Given the description of an element on the screen output the (x, y) to click on. 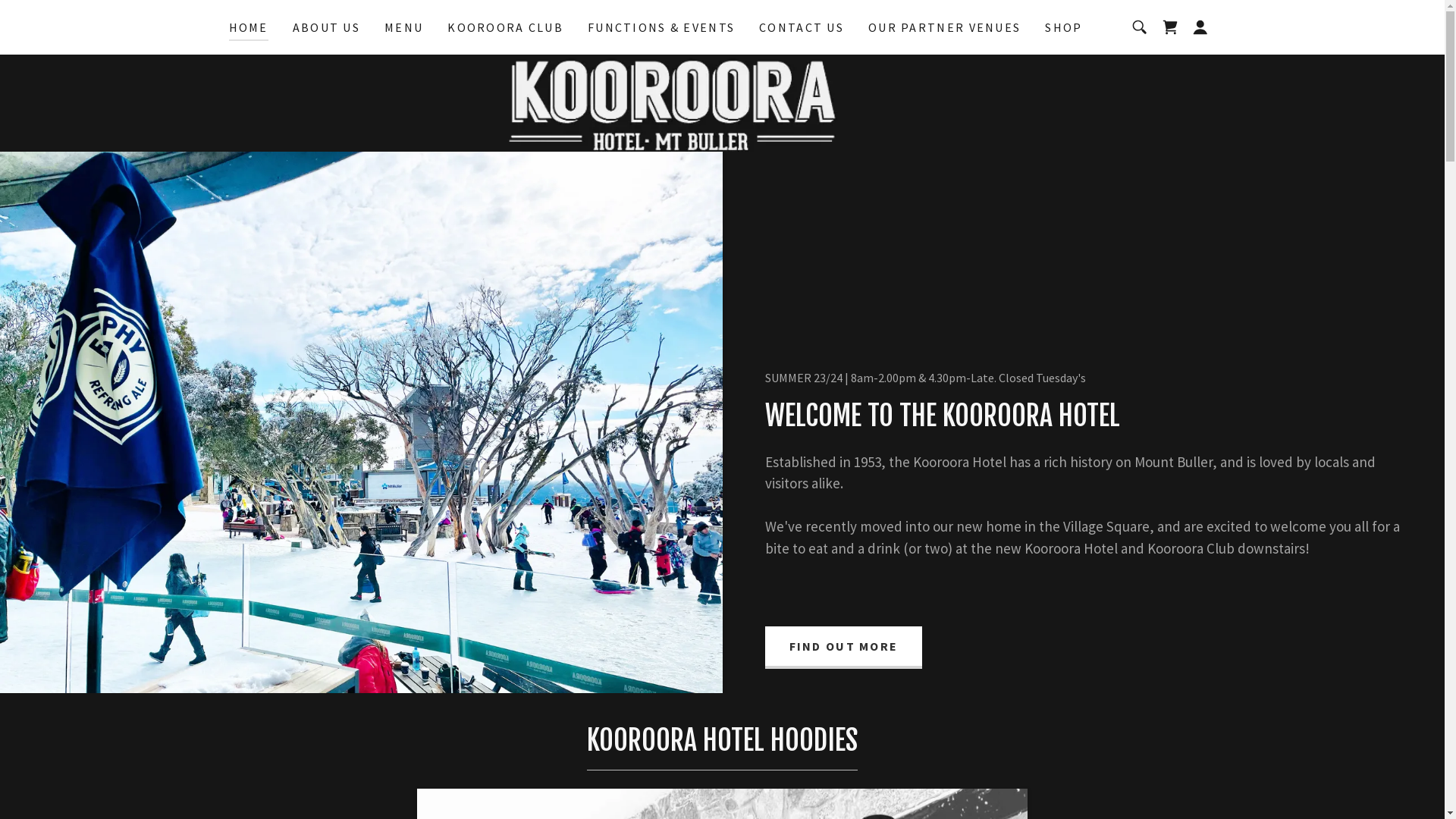
MENU Element type: text (403, 26)
FUNCTIONS & EVENTS Element type: text (661, 26)
HOME Element type: text (248, 29)
OUR PARTNER VENUES Element type: text (944, 26)
FIND OUT MORE Element type: text (843, 647)
ABOUT US Element type: text (326, 26)
SHOP Element type: text (1063, 26)
KOOROORA CLUB Element type: text (504, 26)
CONTACT US Element type: text (801, 26)
